Given the description of an element on the screen output the (x, y) to click on. 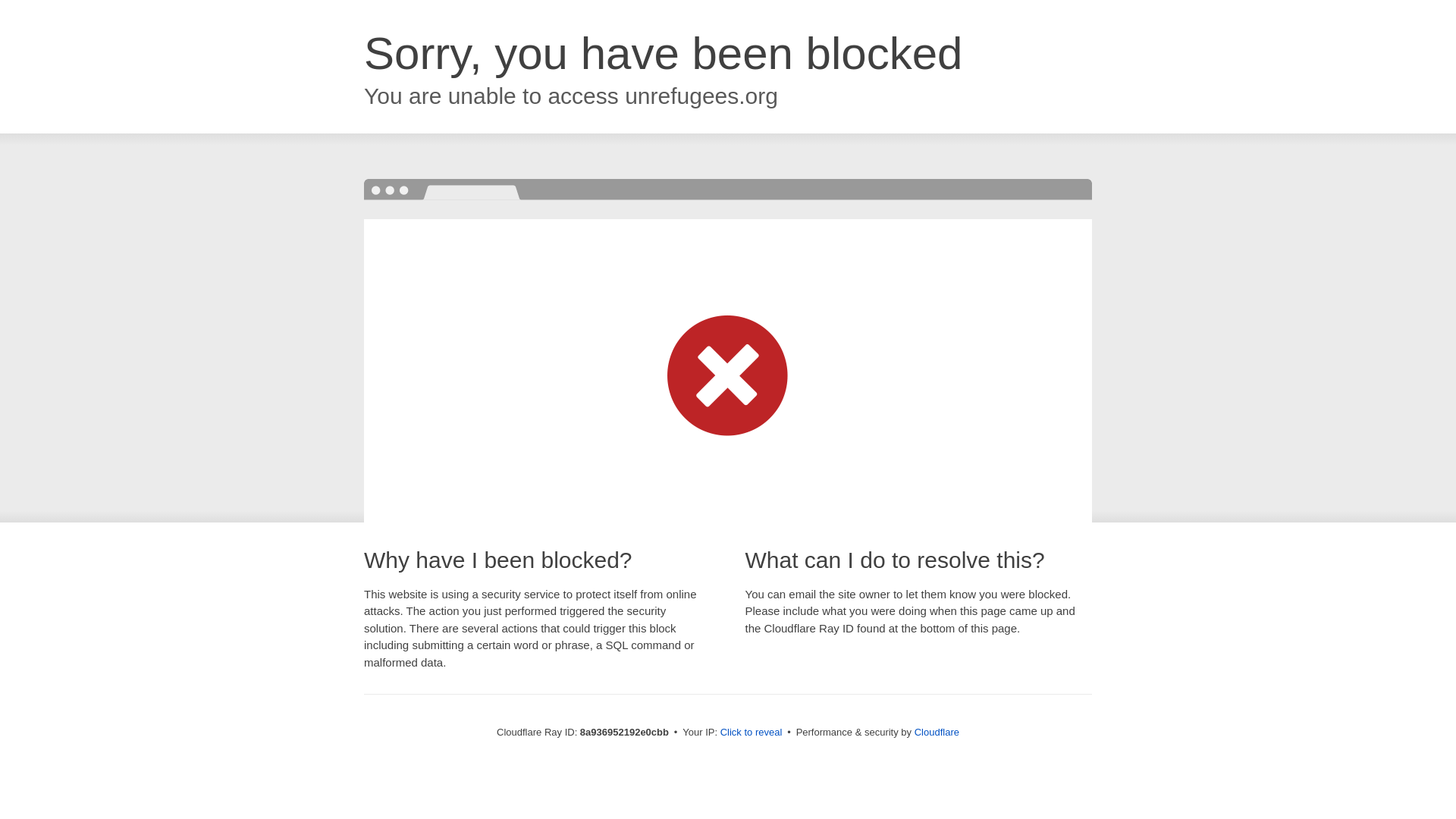
Click to reveal (751, 732)
Cloudflare (936, 731)
